Given the description of an element on the screen output the (x, y) to click on. 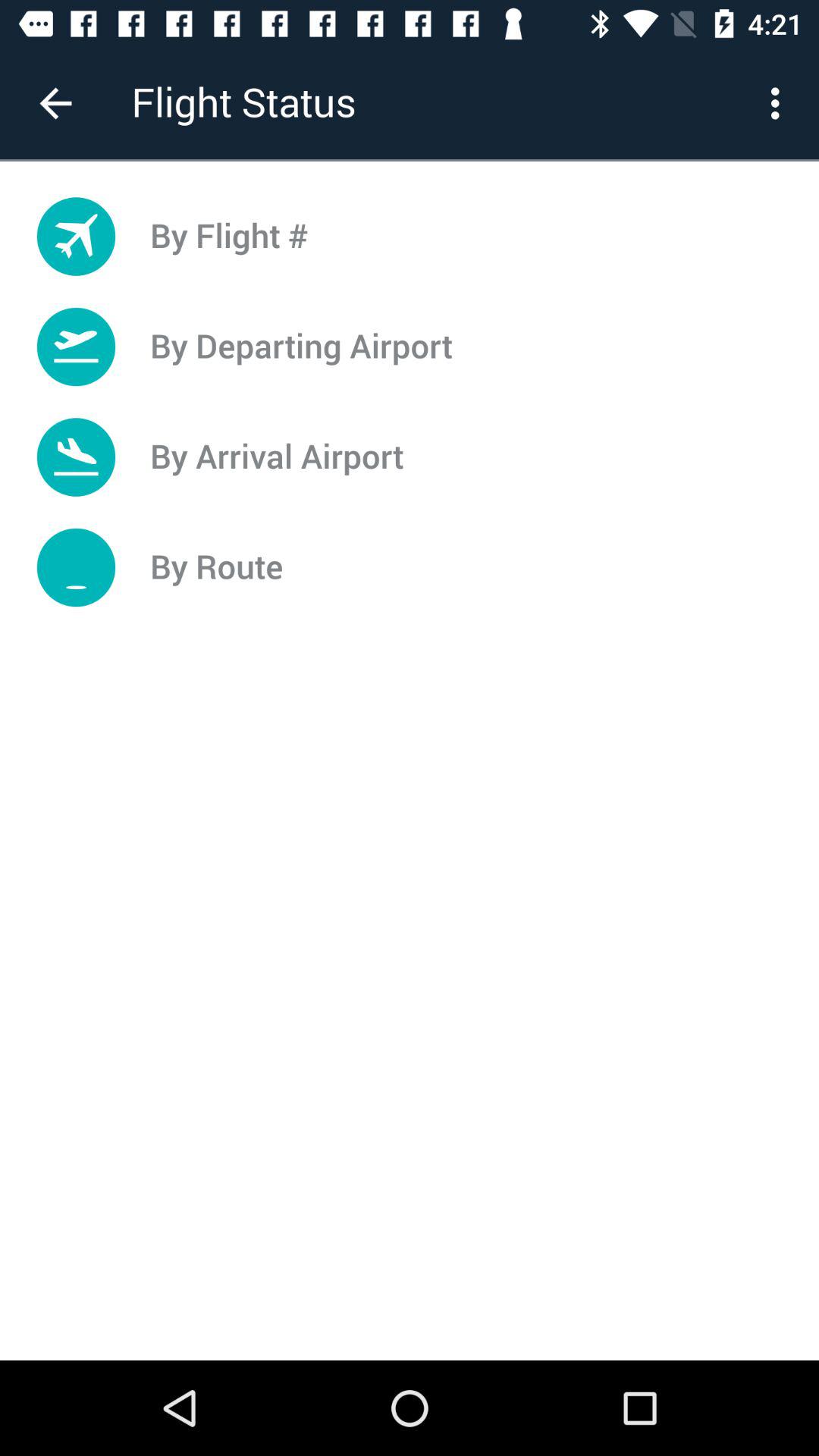
choose item next to the flight status icon (779, 103)
